Given the description of an element on the screen output the (x, y) to click on. 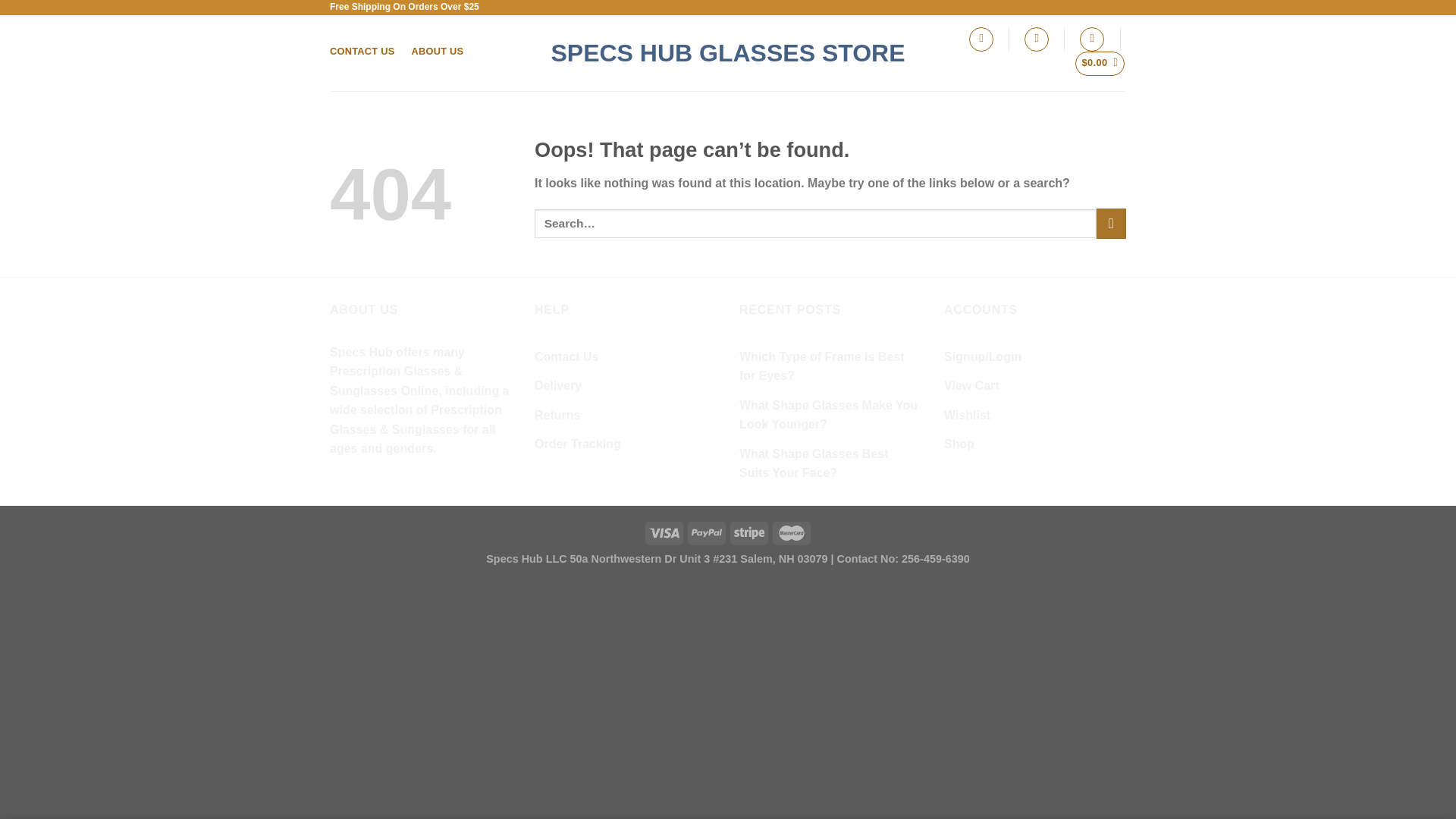
Wishlist (966, 415)
Shop (958, 443)
Delivery (557, 385)
Returns (556, 415)
SPECS HUB GLASSES STORE (728, 52)
CONTACT US (362, 50)
Contact Us (566, 357)
Basket (1100, 63)
Specs Hub Glasses Store (728, 52)
View Cart (970, 385)
